Given the description of an element on the screen output the (x, y) to click on. 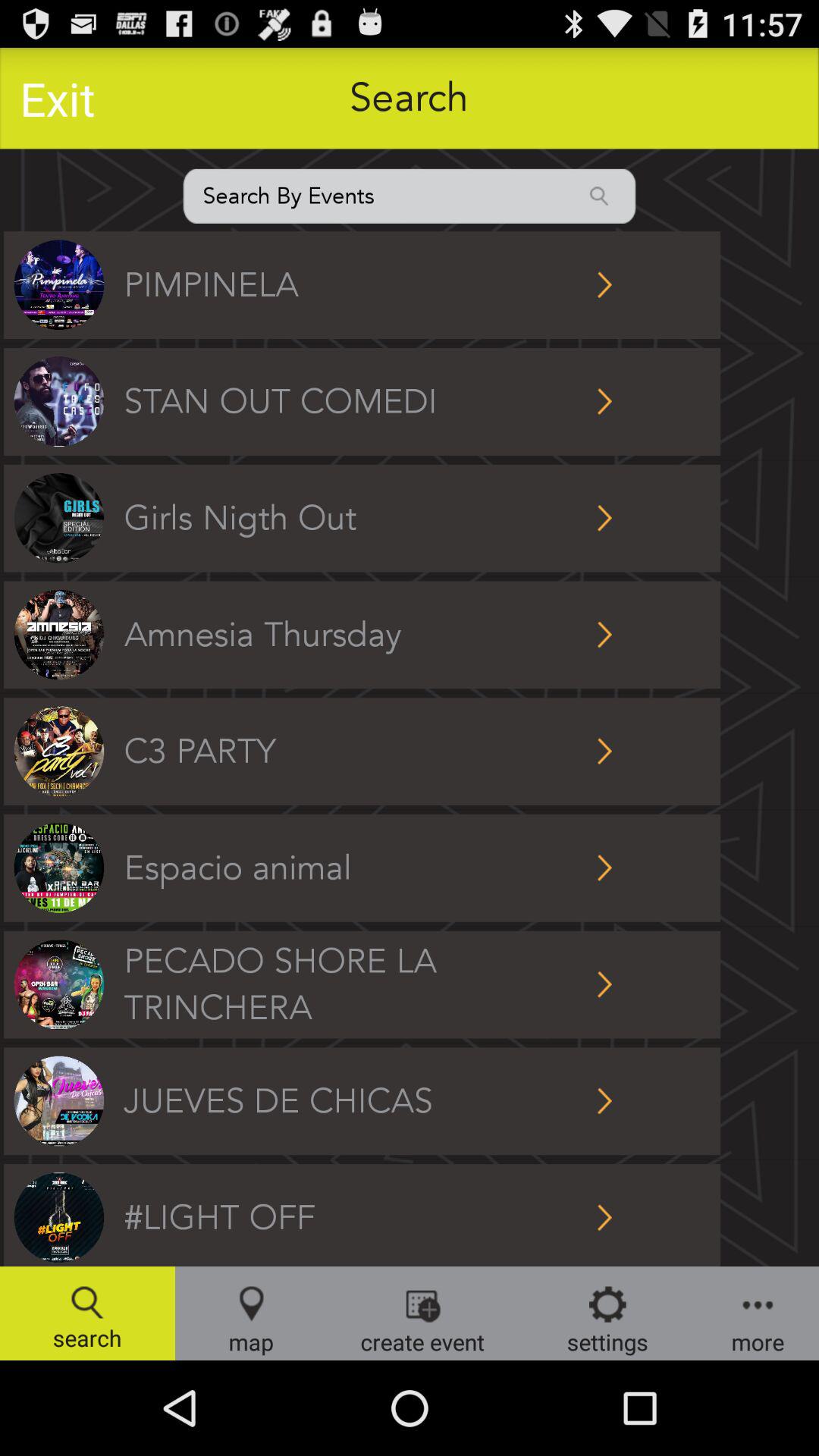
search the option (409, 195)
